Given the description of an element on the screen output the (x, y) to click on. 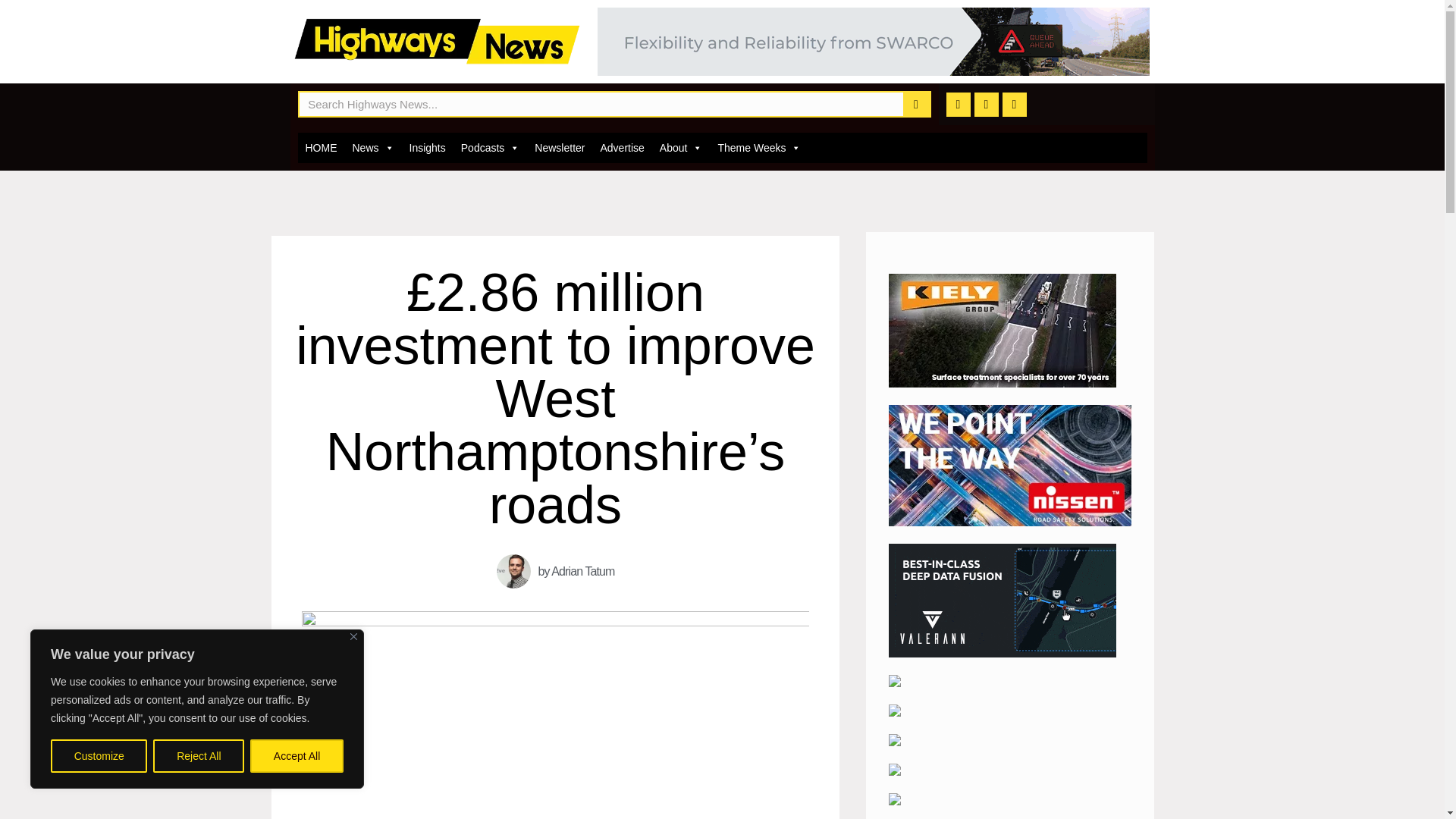
HOME (320, 147)
Customize (98, 756)
News (372, 147)
Reject All (198, 756)
Accept All (296, 756)
